Given the description of an element on the screen output the (x, y) to click on. 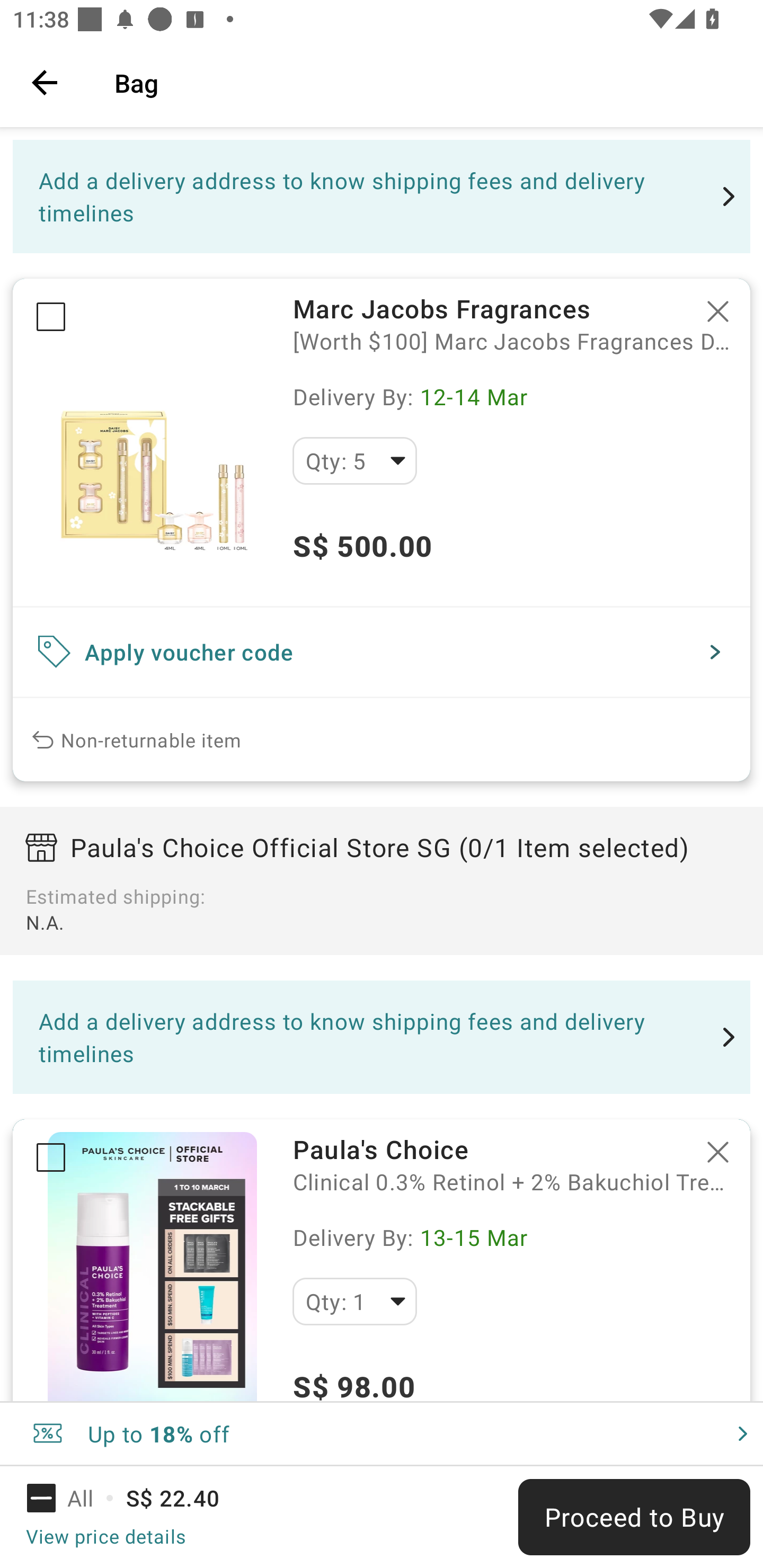
Navigate up (44, 82)
Bag (426, 82)
Qty: 5 (354, 460)
Apply voucher code (381, 652)
Qty: 1 (354, 1300)
Up to 18% off (381, 1433)
All (72, 1497)
Proceed to Buy (634, 1516)
View price details (105, 1535)
